Given the description of an element on the screen output the (x, y) to click on. 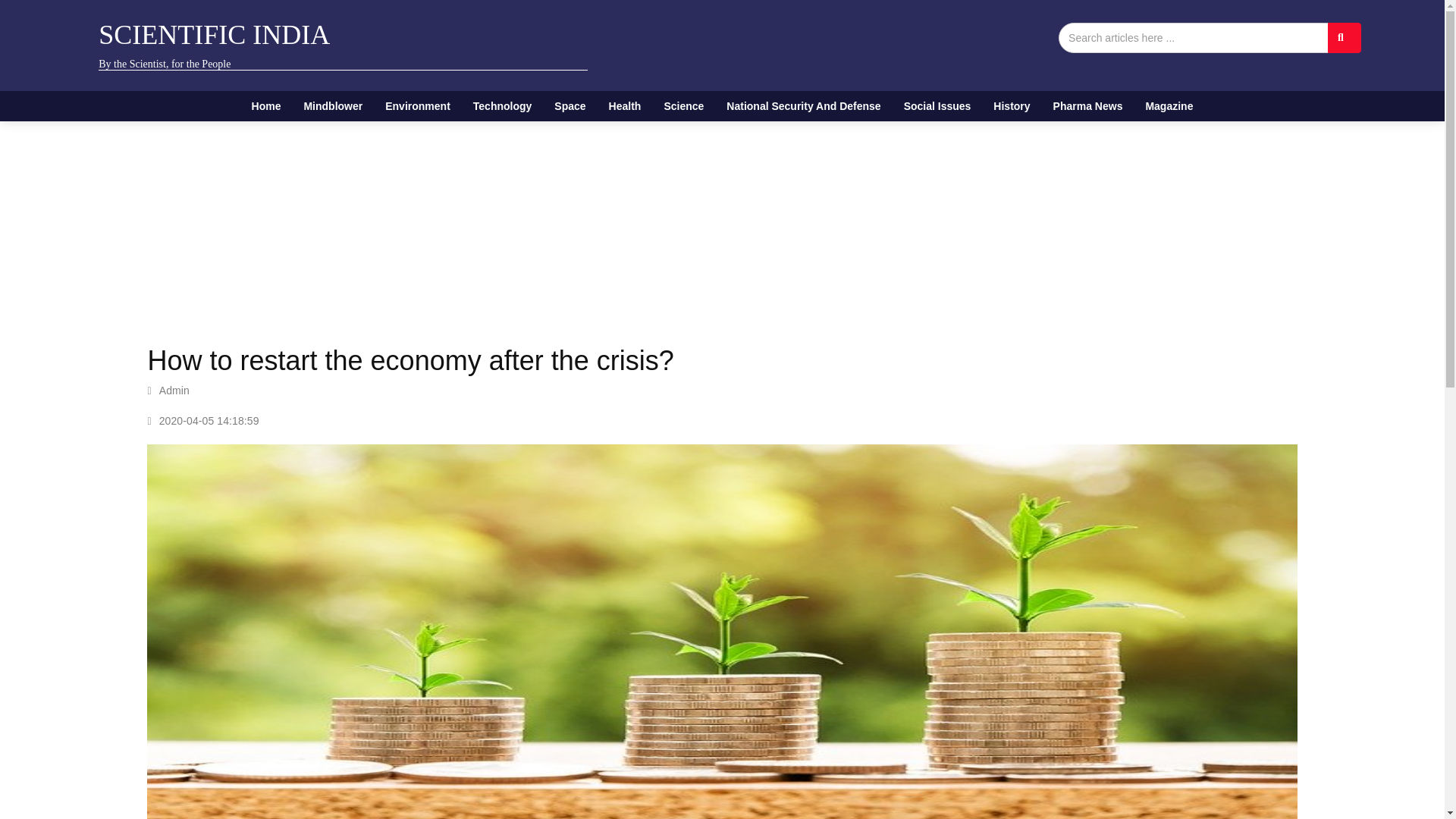
National Security And Defense (802, 105)
Health (624, 105)
Environment (417, 105)
Social Issues (937, 105)
Home (266, 105)
Science (683, 105)
Technology (502, 105)
Pharma News (1088, 105)
Magazine (1169, 105)
History (1011, 105)
Mindblower (333, 105)
Space (569, 105)
